Given the description of an element on the screen output the (x, y) to click on. 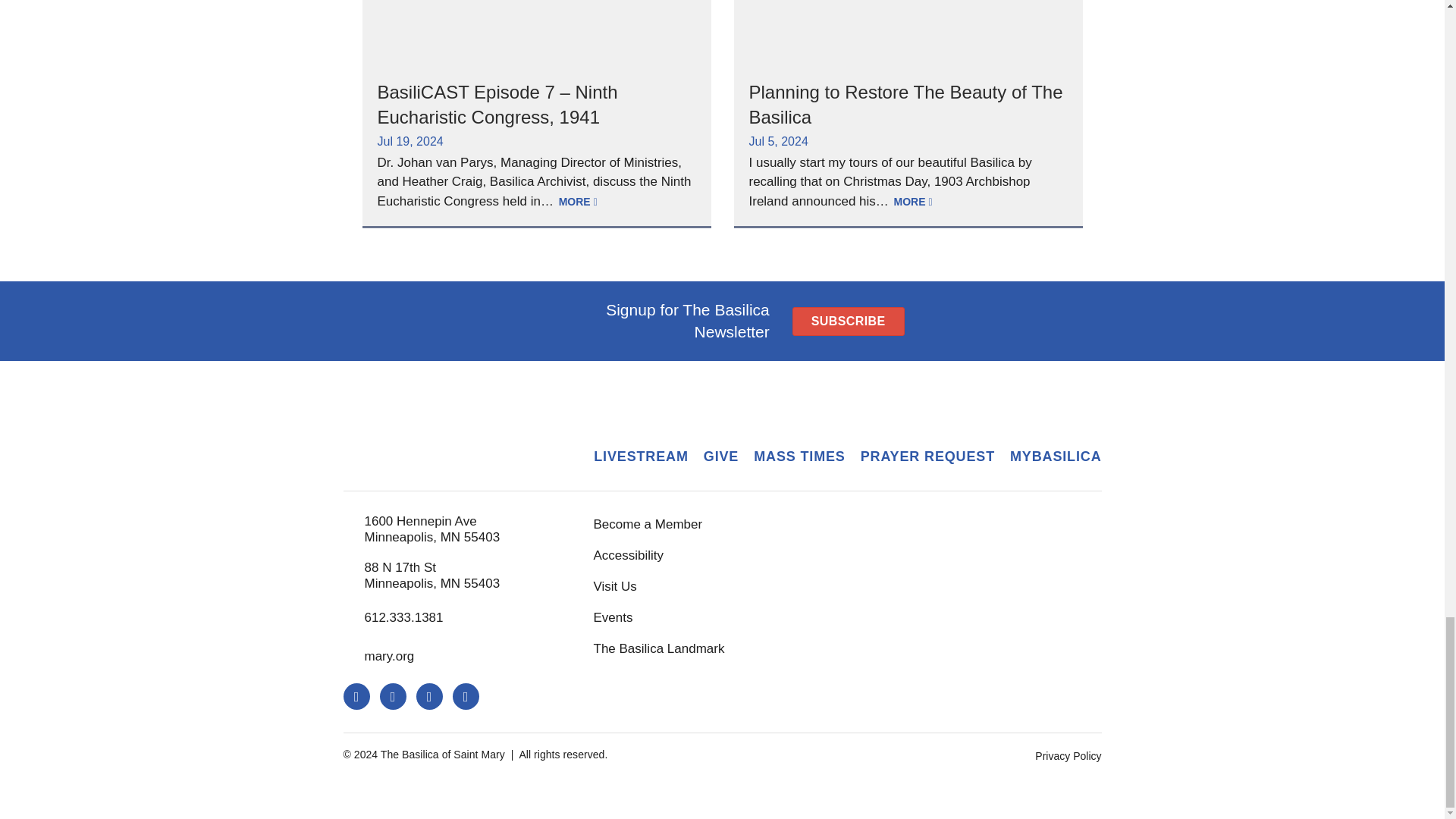
Planning to Restore The Beauty of The Basilica (905, 103)
Basilica Logo (446, 440)
